Given the description of an element on the screen output the (x, y) to click on. 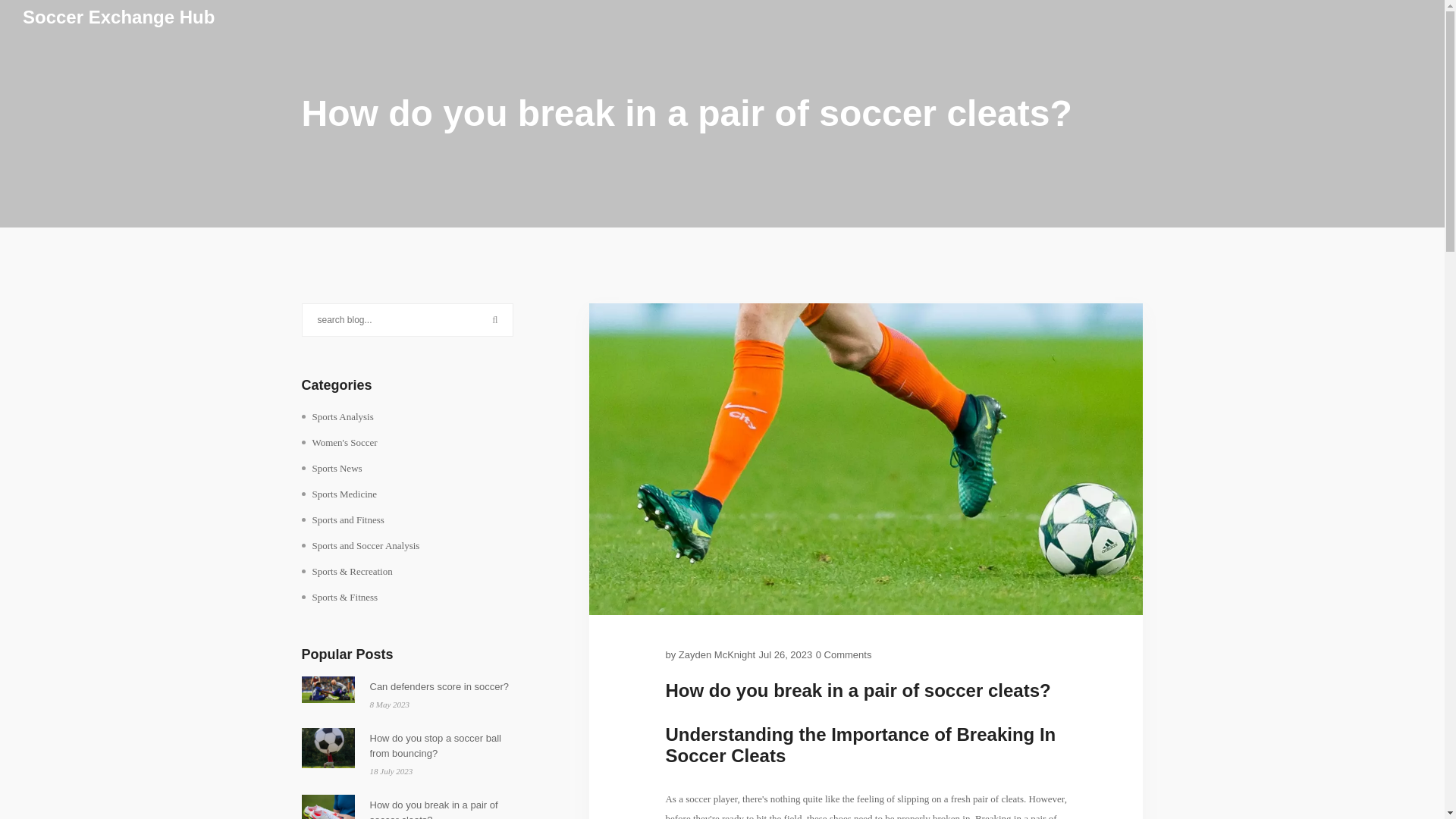
How do you break in a pair of soccer cleats? (441, 808)
Zayden McKnight (716, 655)
Can defenders score in soccer? (441, 686)
Sports and Fitness (342, 519)
Women's Soccer (339, 442)
Sports Analysis (337, 417)
Soccer Exchange Hub (118, 17)
Sports News (331, 468)
Sports Medicine (339, 494)
How do you stop a soccer ball from bouncing? (441, 746)
